Given the description of an element on the screen output the (x, y) to click on. 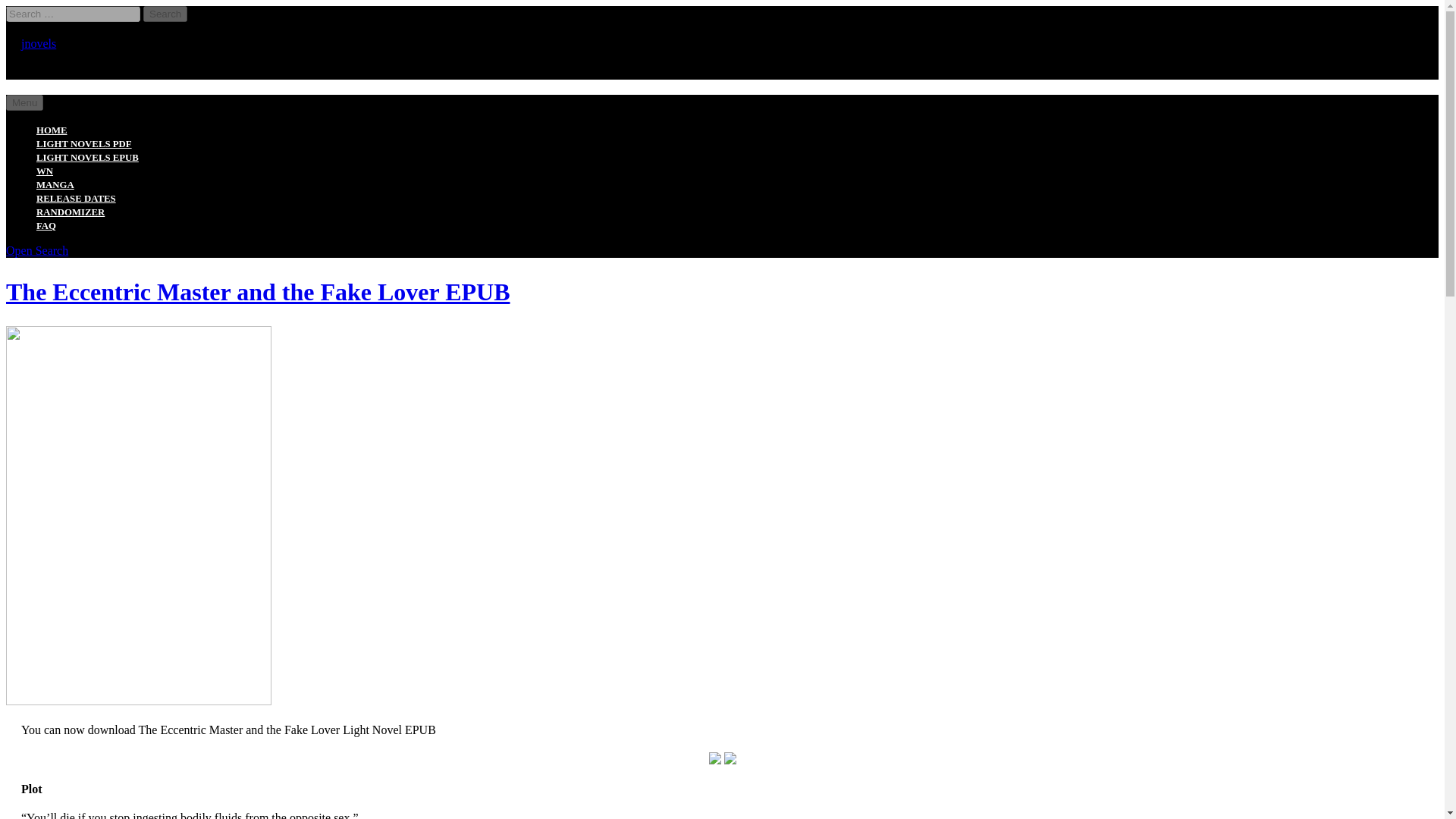
RANDOMIZER (70, 212)
The Eccentric Master and the Fake Lover EPUB (258, 291)
MANGA (55, 184)
FAQ (46, 225)
WN (44, 171)
Search (164, 13)
jnovels (38, 42)
Open Search (36, 250)
Search (164, 13)
